Given the description of an element on the screen output the (x, y) to click on. 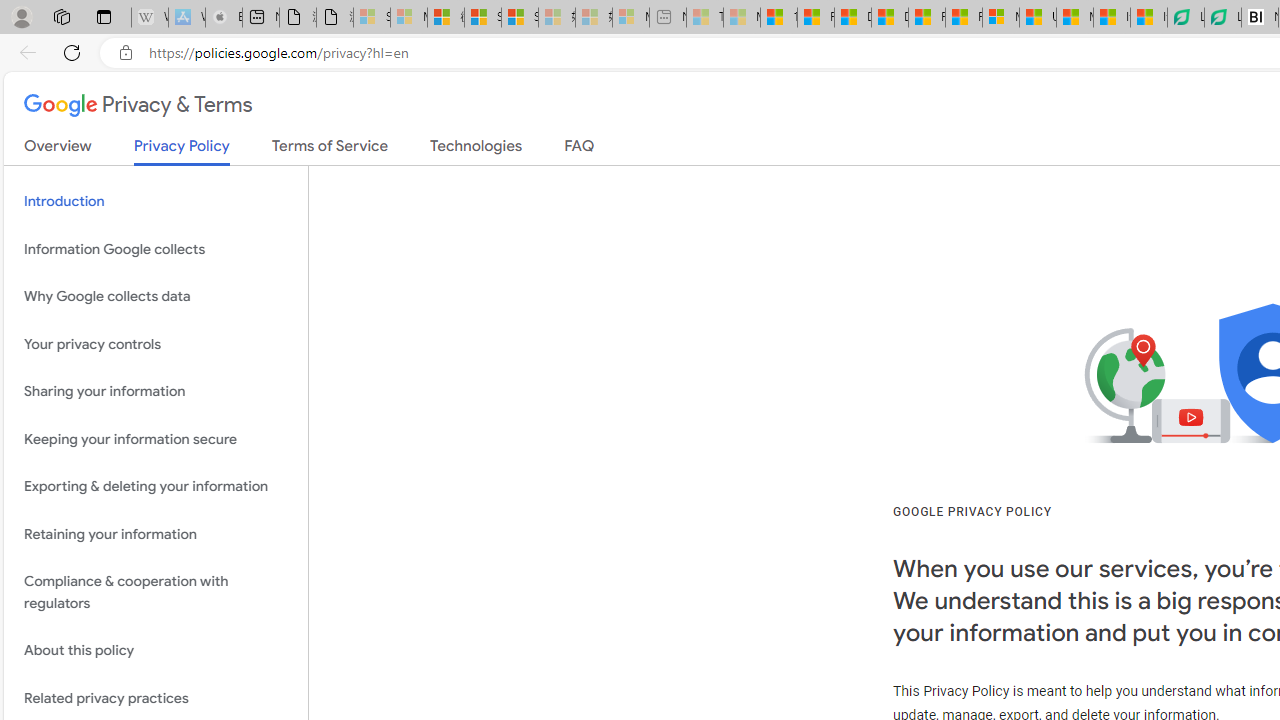
Technologies (476, 150)
Terms of Service (330, 150)
Your privacy controls (155, 343)
Exporting & deleting your information (155, 486)
Introduction (155, 201)
New tab - Sleeping (668, 17)
Compliance & cooperation with regulators (155, 592)
Food and Drink - MSN (815, 17)
Overview (58, 150)
LendingTree - Compare Lenders (1222, 17)
FAQ (579, 150)
